Given the description of an element on the screen output the (x, y) to click on. 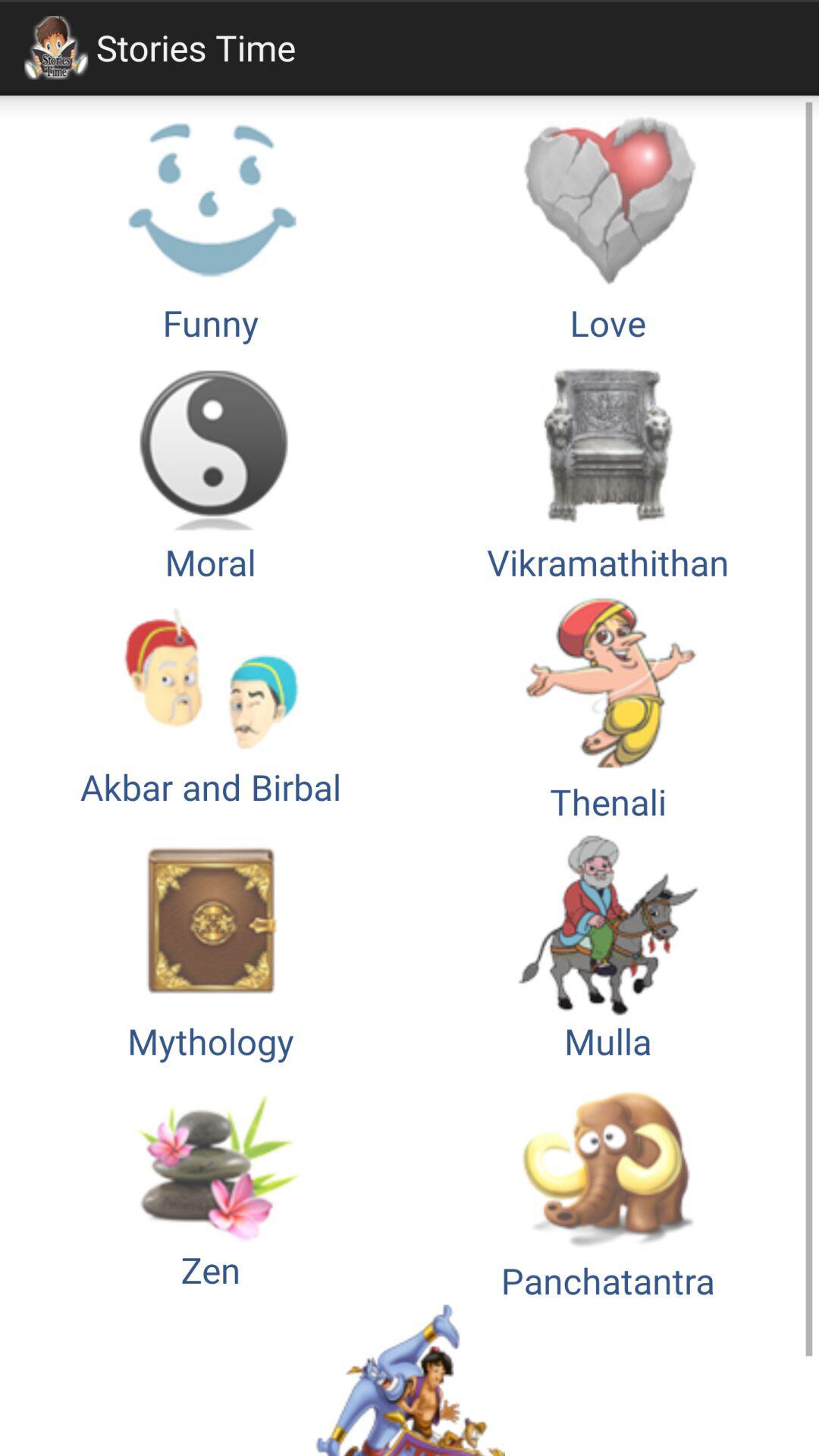
flip to thenali icon (608, 705)
